Given the description of an element on the screen output the (x, y) to click on. 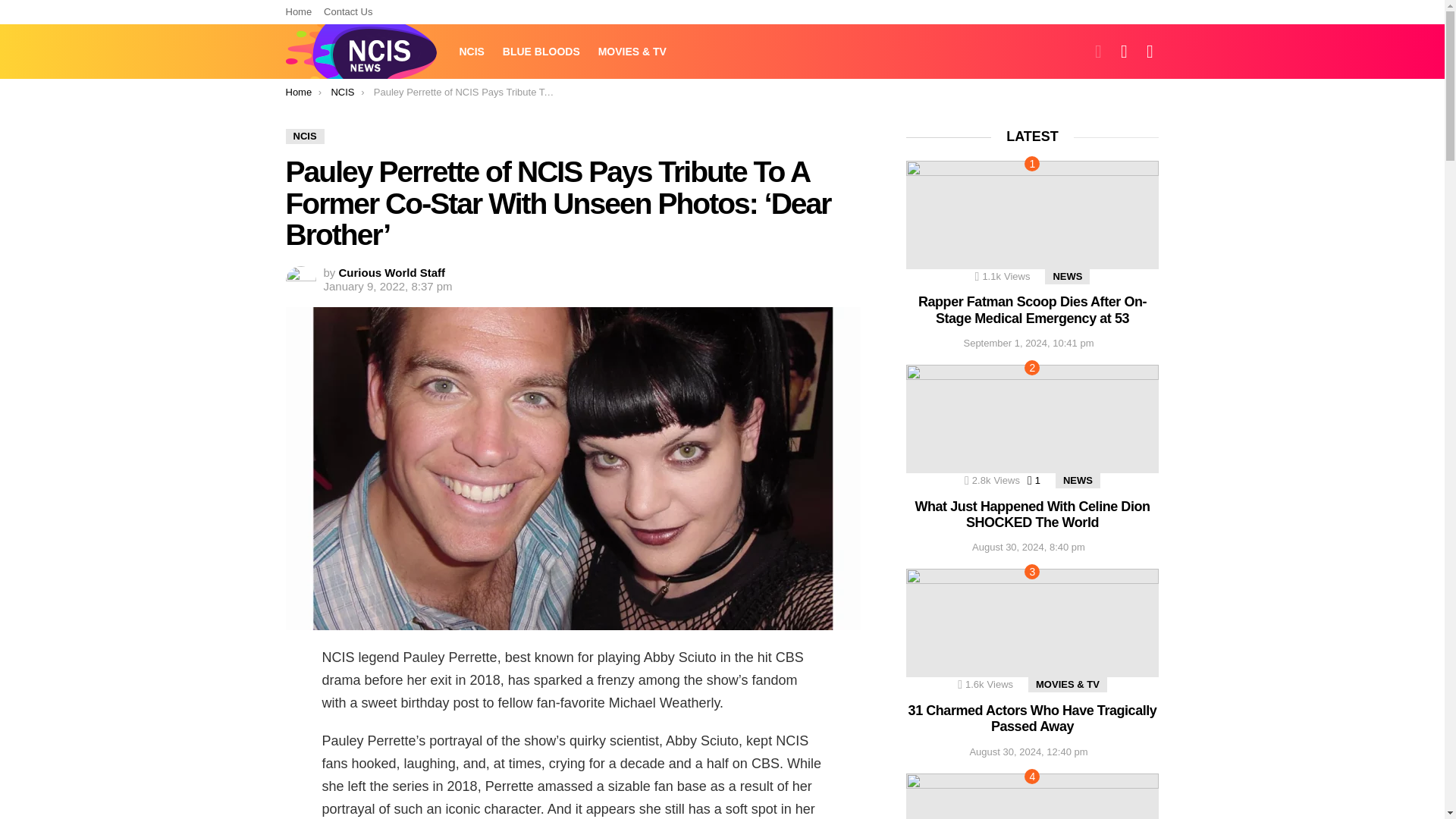
Home (298, 91)
NCIS (471, 51)
Curious World Staff (392, 272)
Contact Us (347, 12)
NCIS (341, 91)
Home (298, 12)
Posts by Curious World Staff (392, 272)
NCIS (304, 136)
BLUE BLOODS (541, 51)
